Given the description of an element on the screen output the (x, y) to click on. 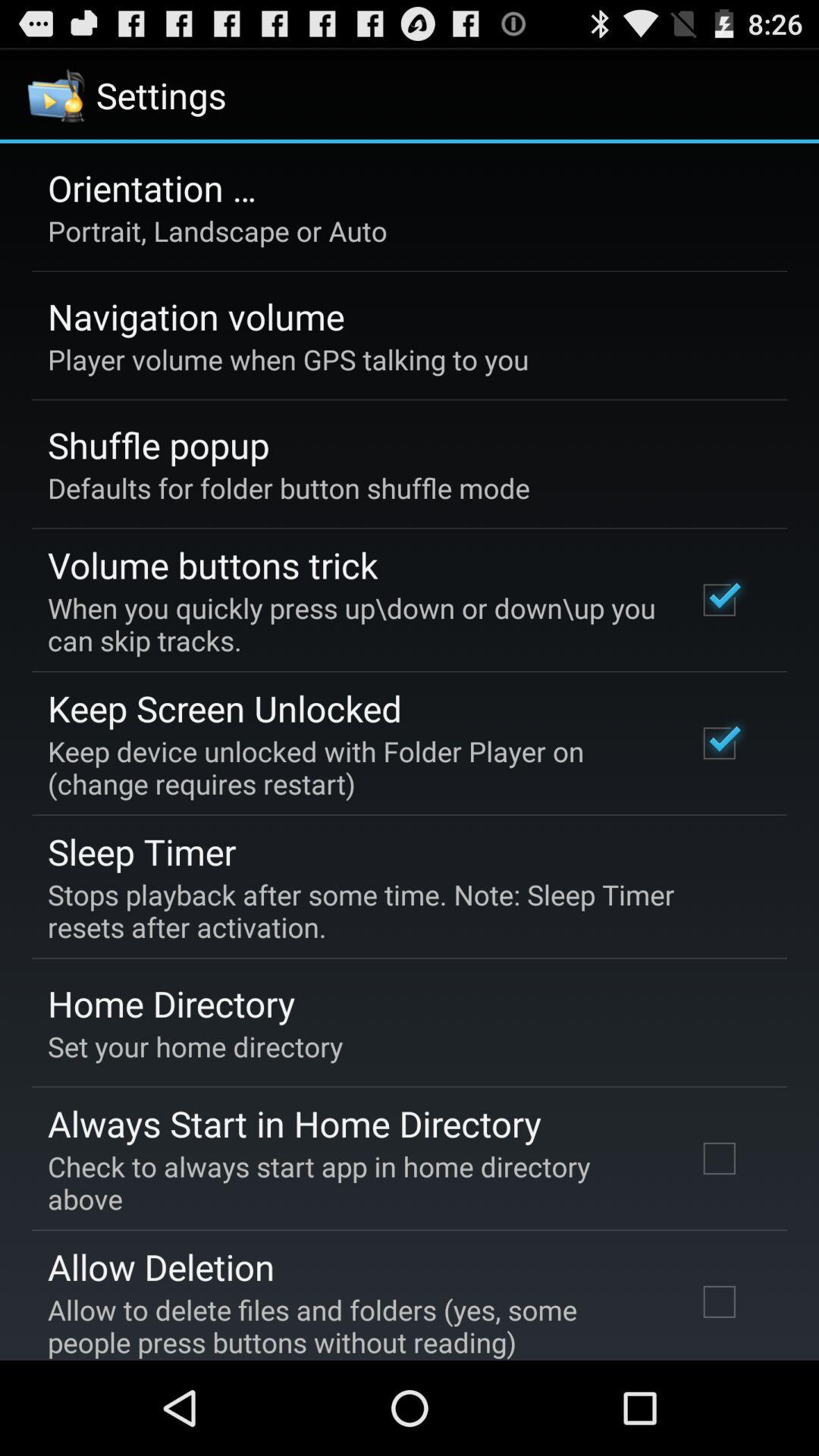
turn on player volume when item (287, 359)
